Given the description of an element on the screen output the (x, y) to click on. 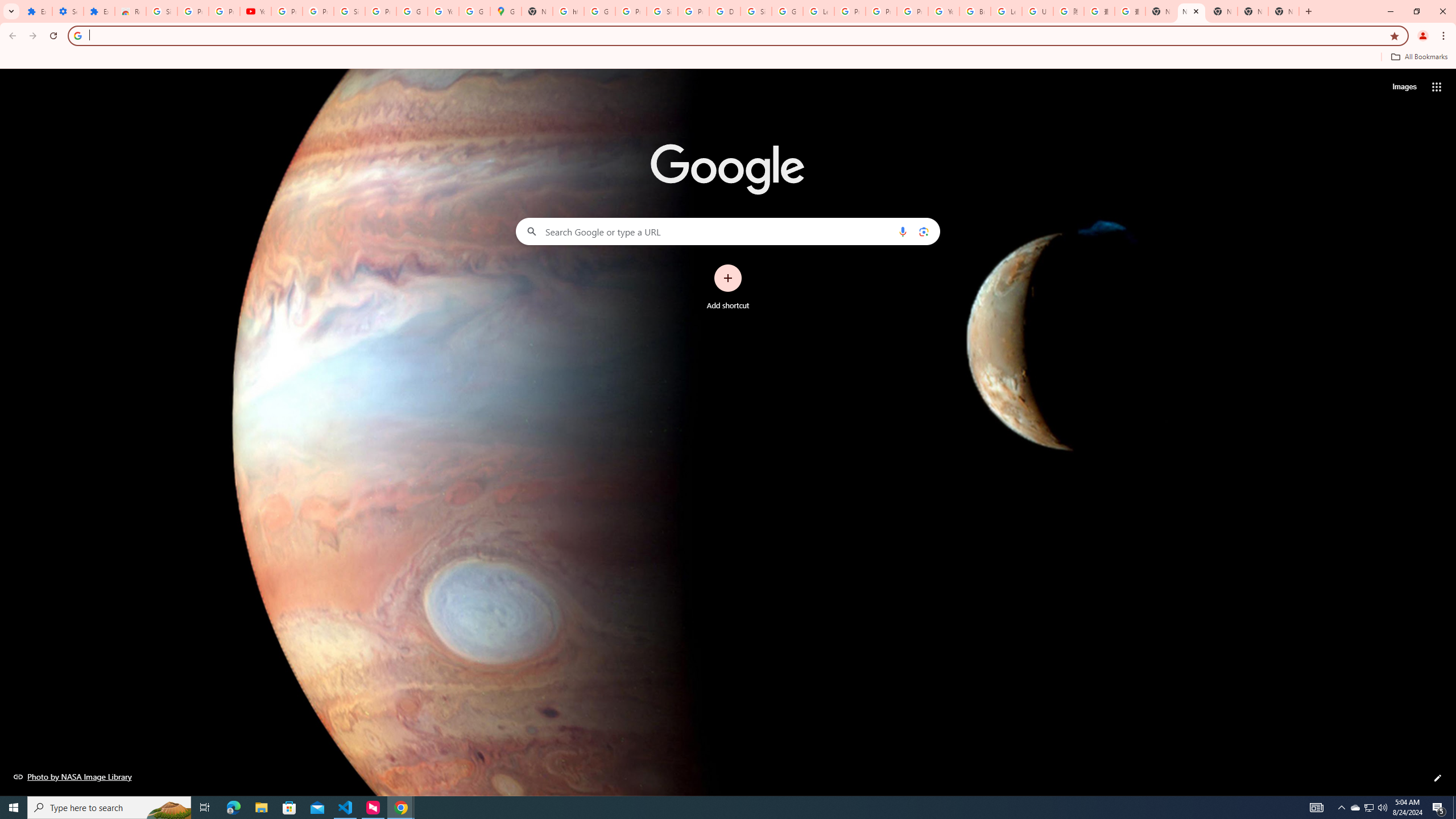
Privacy Help Center - Policies Help (881, 11)
Photo by NASA Image Library (72, 776)
Search Google or type a URL (727, 230)
YouTube (255, 11)
